Given the description of an element on the screen output the (x, y) to click on. 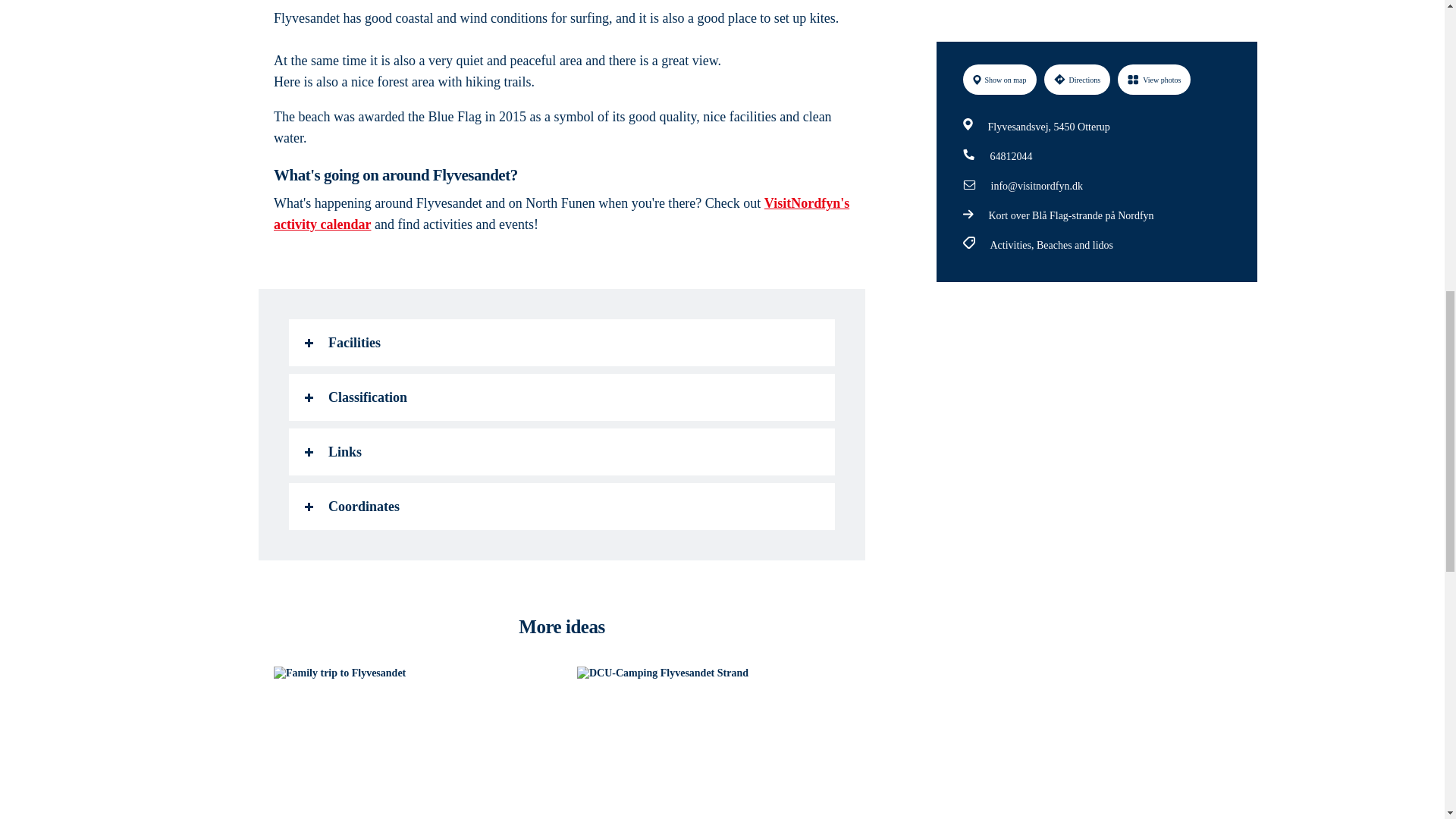
Family trip to Flyvesandet (410, 742)
Coordinates (561, 506)
VisitNordfyn's activity calendar (560, 213)
Links (561, 451)
events North Funen (560, 213)
Classification (561, 396)
DCU-Camping Flyvesandet Strand (713, 742)
Facilities (561, 342)
